Given the description of an element on the screen output the (x, y) to click on. 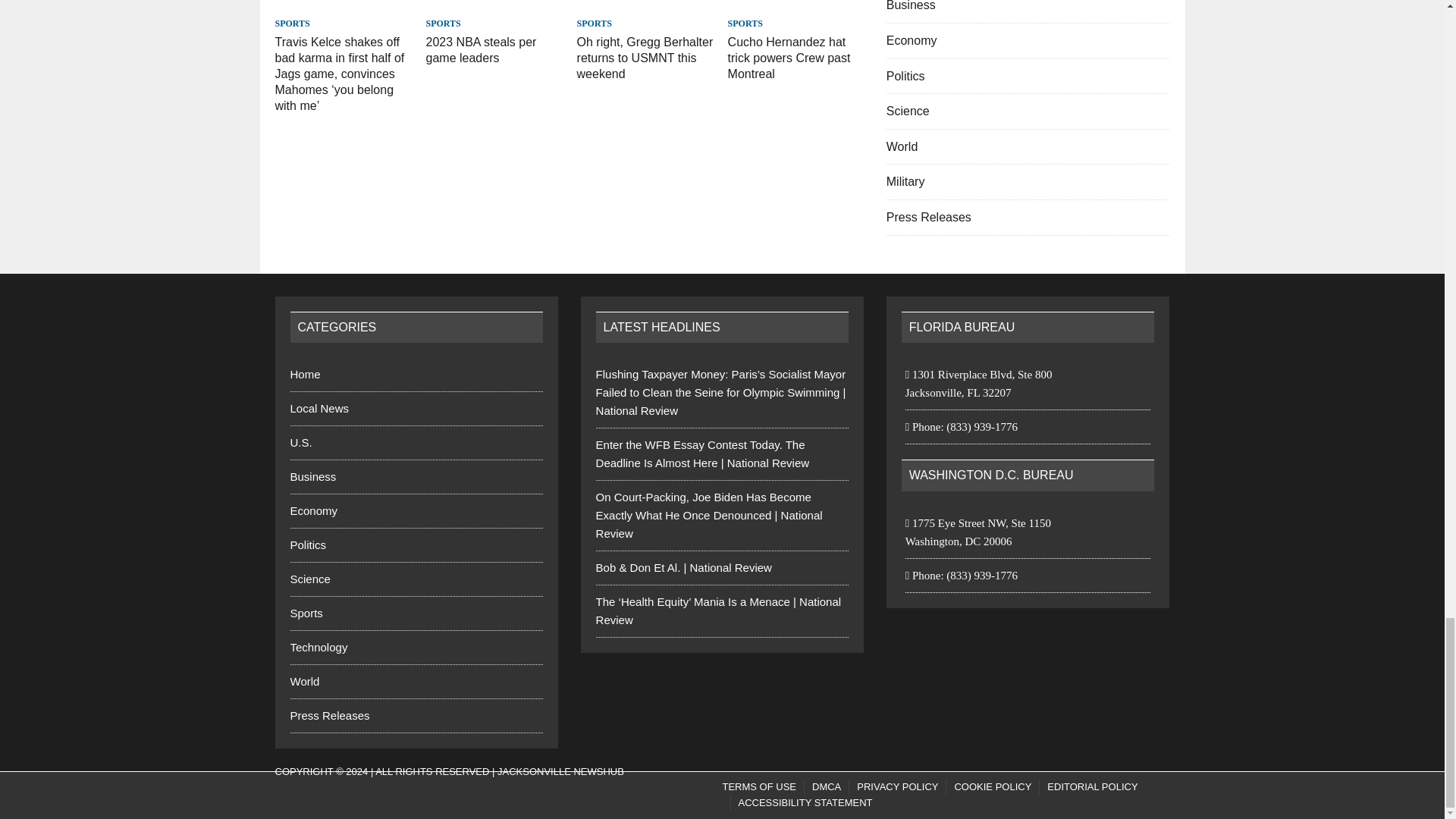
Cucho Hernandez hat trick powers Crew past Montreal (796, 4)
Oh right, Gregg Berhalter returns to USMNT this weekend (644, 58)
2023 NBA steals per game leaders (494, 4)
2023 NBA steals per game leaders (481, 50)
Cucho Hernandez hat trick powers Crew past Montreal (789, 58)
Oh right, Gregg Berhalter returns to USMNT this weekend (644, 4)
